Given the description of an element on the screen output the (x, y) to click on. 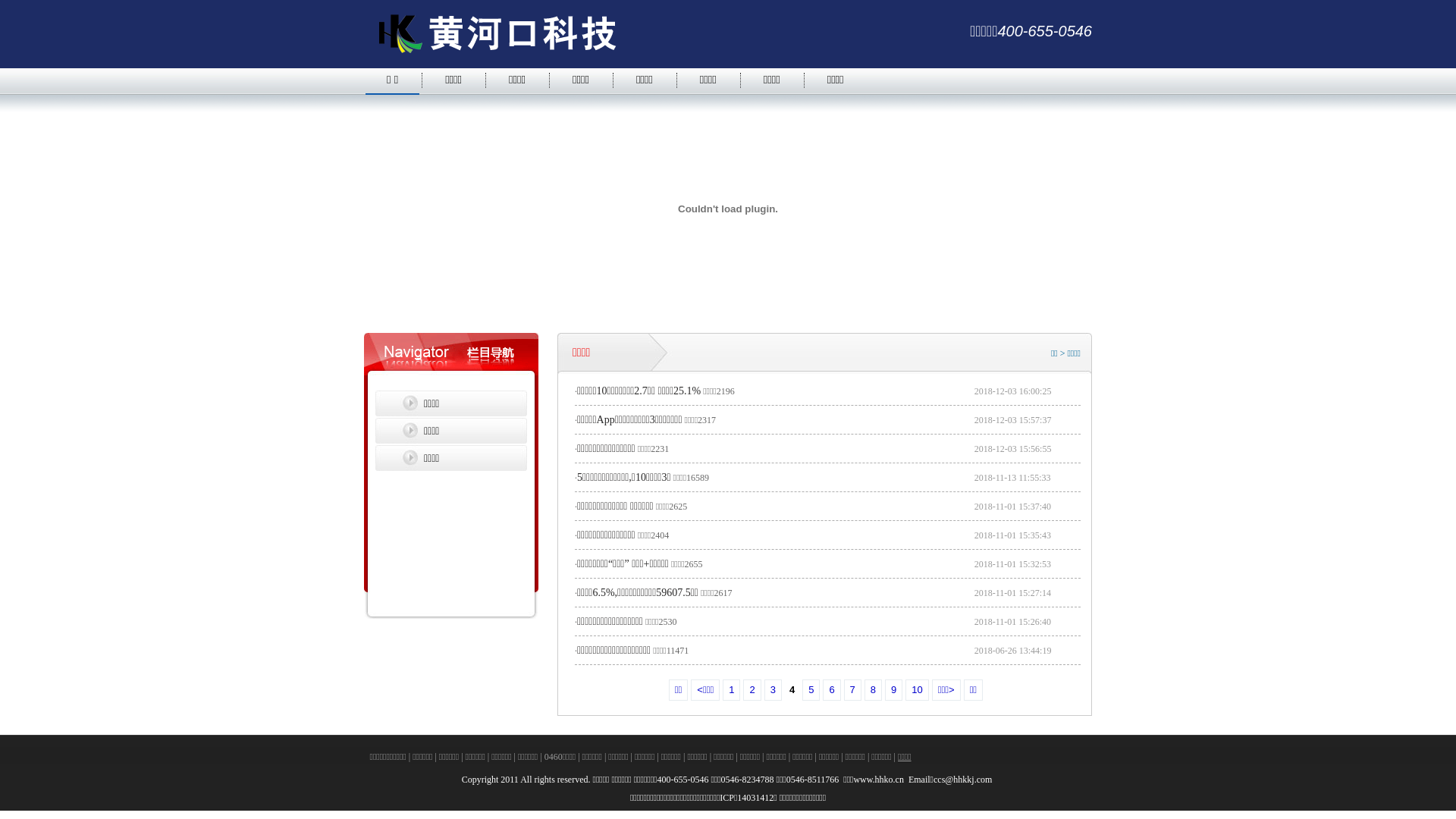
10 Element type: text (916, 689)
8 Element type: text (872, 689)
ccs@hhkkj.com  Element type: text (963, 779)
6 Element type: text (831, 689)
9 Element type: text (893, 689)
5 Element type: text (810, 689)
7 Element type: text (852, 689)
2 Element type: text (751, 689)
3 Element type: text (772, 689)
1 Element type: text (731, 689)
